Given the description of an element on the screen output the (x, y) to click on. 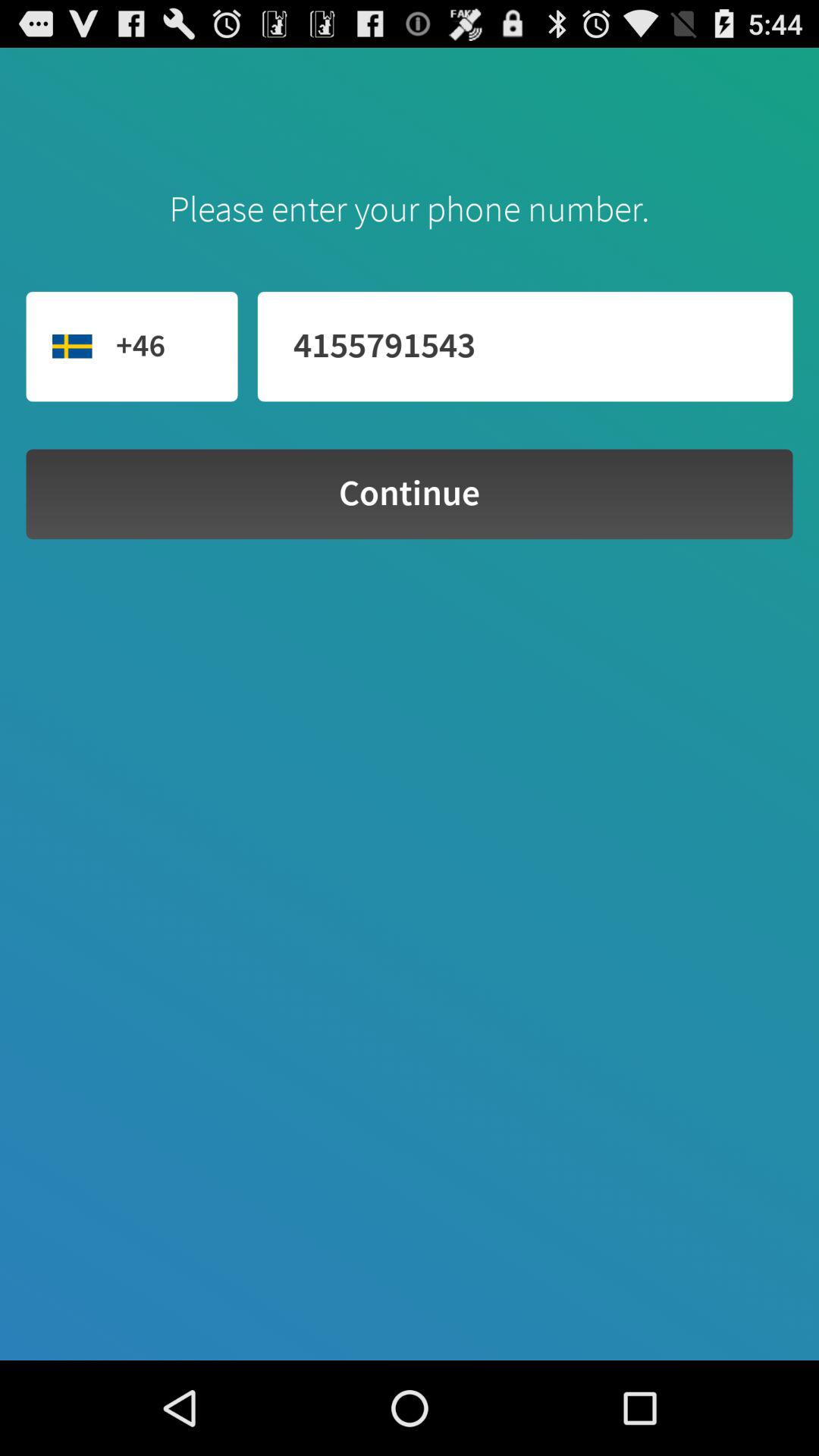
tap the icon above continue icon (524, 346)
